Given the description of an element on the screen output the (x, y) to click on. 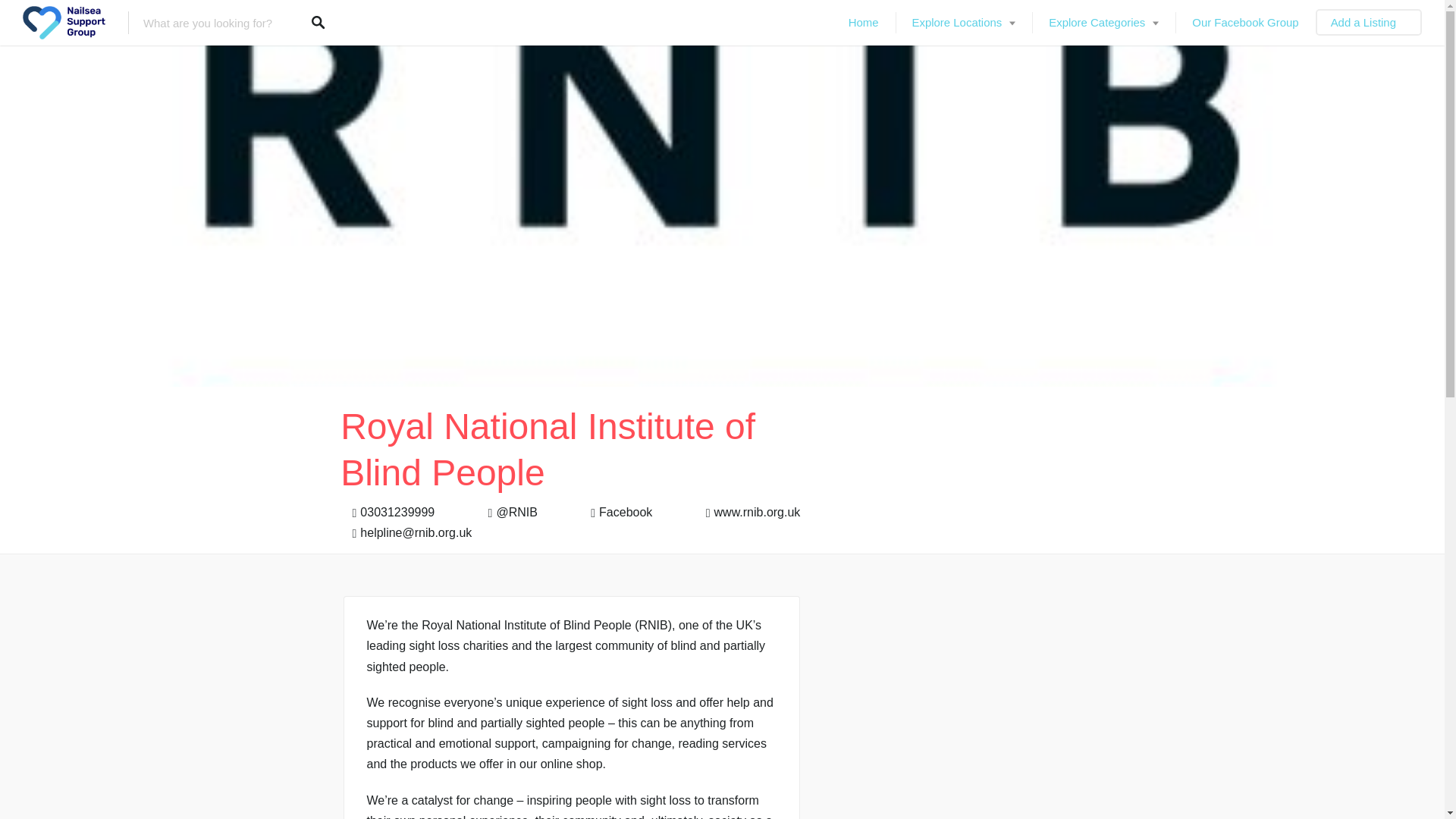
Explore Locations (963, 22)
Home (863, 22)
Explore Categories (1103, 22)
